Given the description of an element on the screen output the (x, y) to click on. 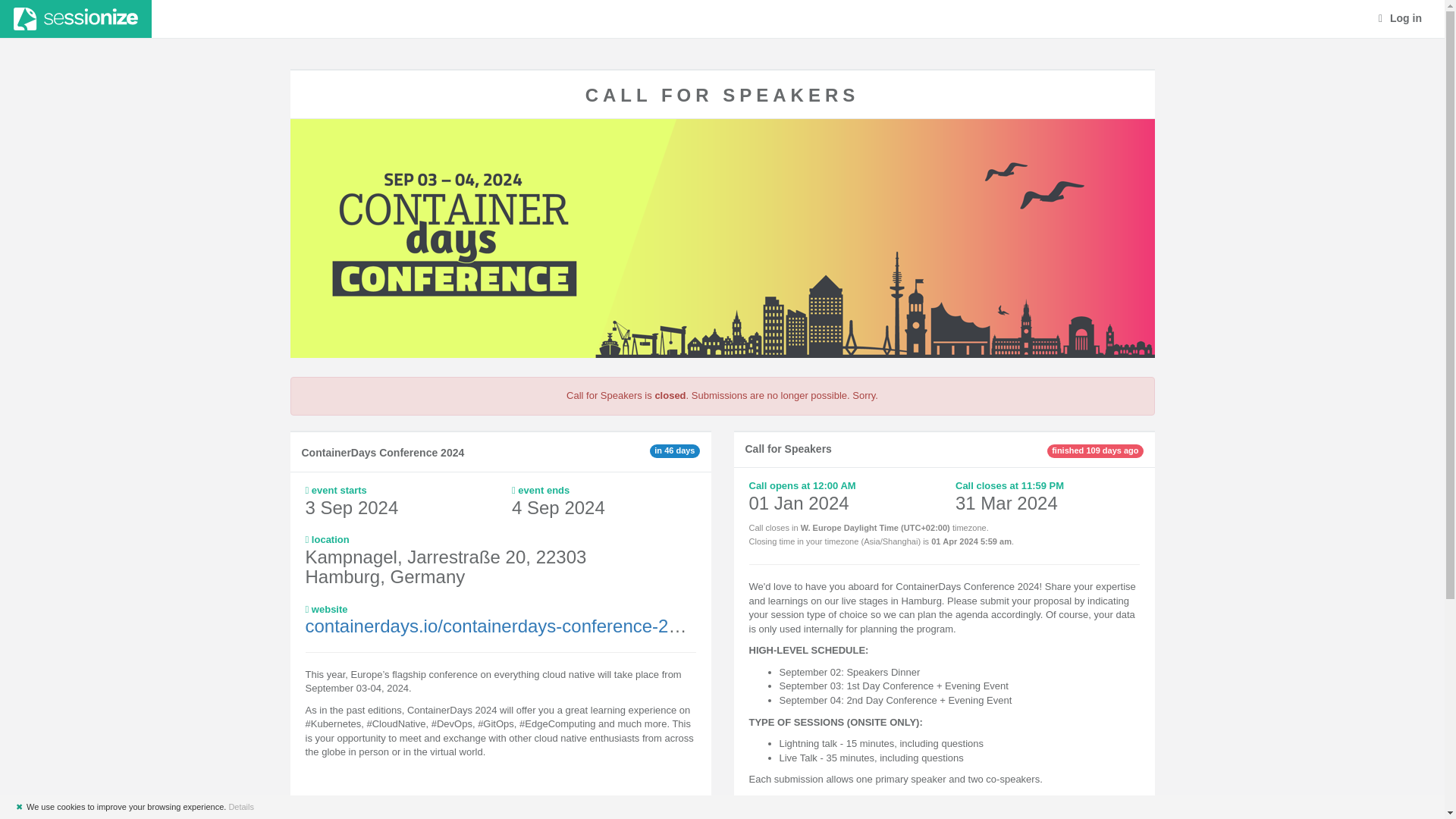
Log in (1399, 18)
Sessionize.com (75, 18)
Details (240, 806)
